Given the description of an element on the screen output the (x, y) to click on. 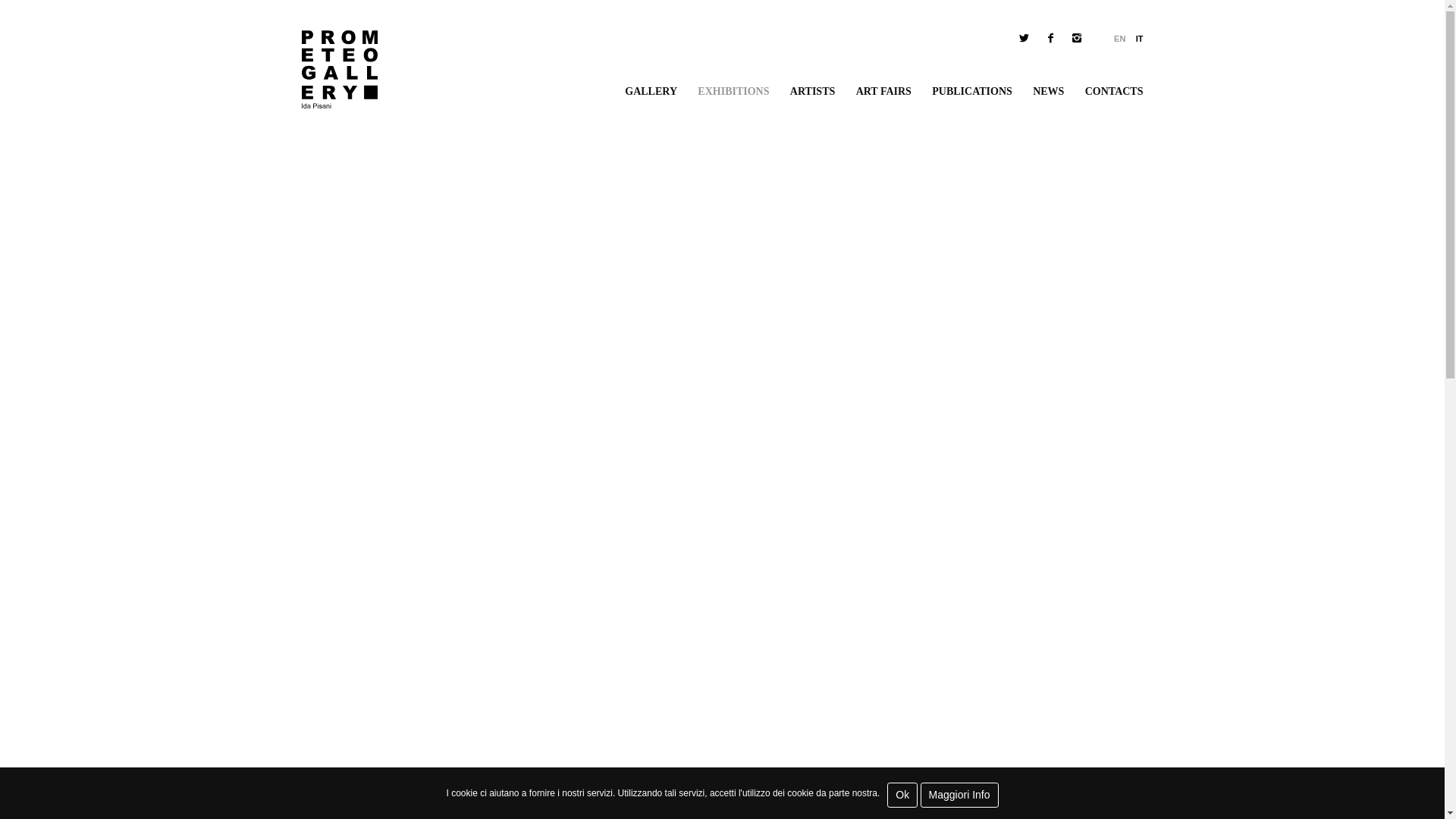
Maggiori Info (959, 794)
Ok (901, 794)
ARTISTS (812, 91)
Prometeo Gallery (339, 68)
PUBLICATIONS (971, 91)
NEWS (1048, 91)
Edson Luli (1092, 794)
CONTACTS (1113, 91)
EXHIBITIONS (732, 91)
GALLERY (650, 91)
